Given the description of an element on the screen output the (x, y) to click on. 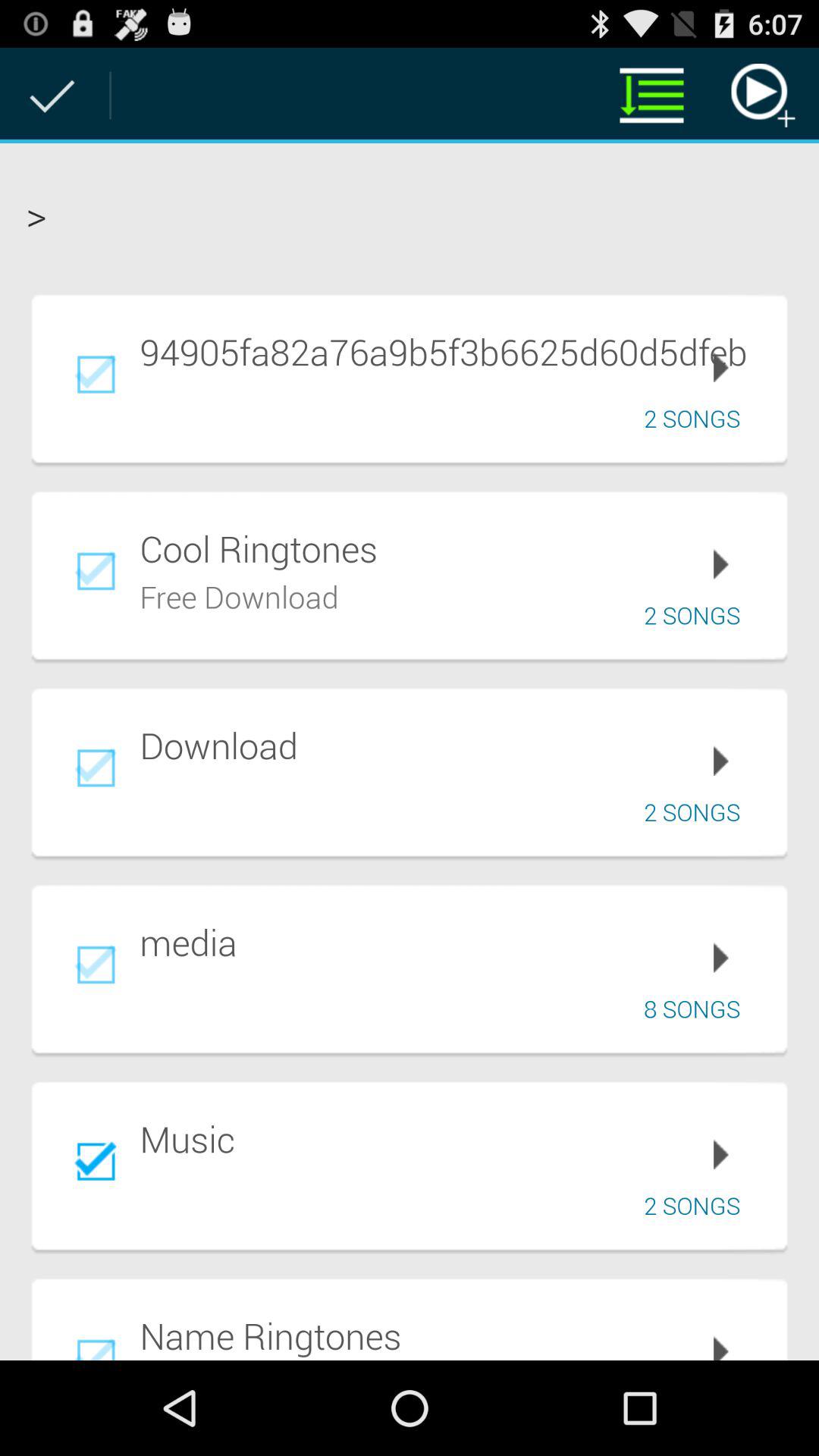
jump until the free download (238, 594)
